Given the description of an element on the screen output the (x, y) to click on. 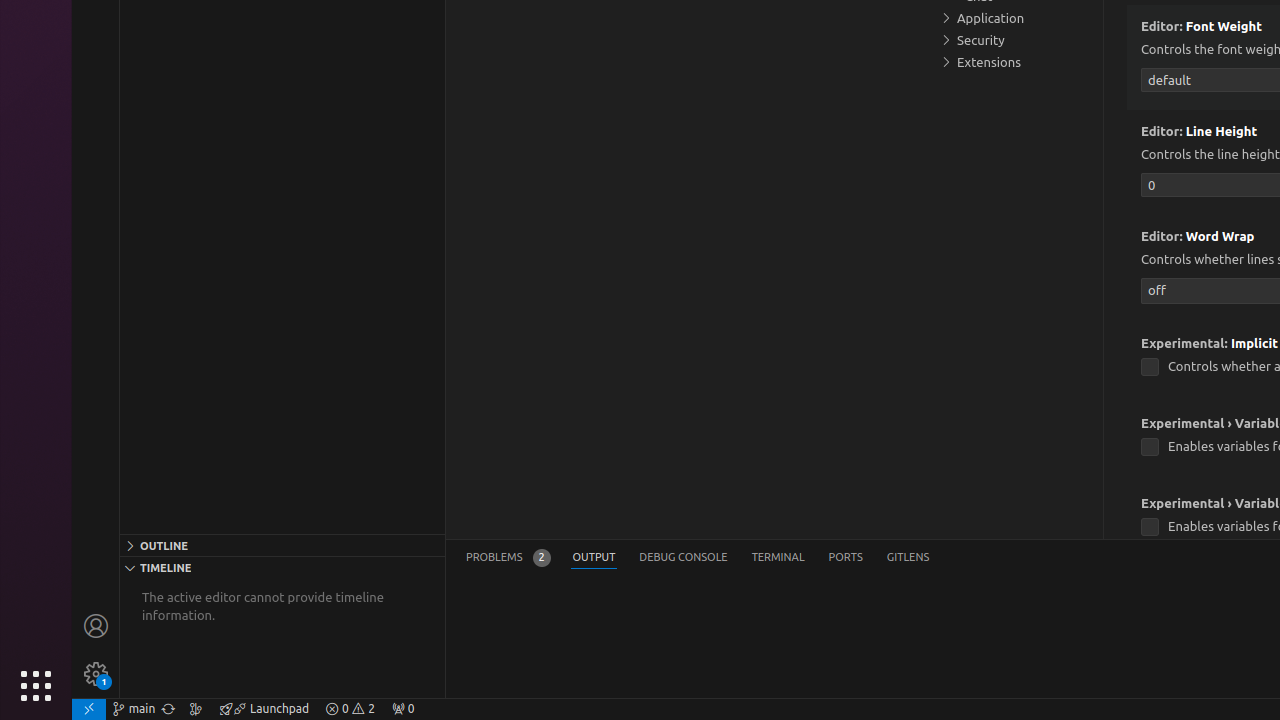
Ports Element type: page-tab (845, 557)
Extensions, group Element type: tree-item (1015, 62)
Active View Switcher Element type: page-tab-list (698, 557)
No Ports Forwarded Element type: push-button (403, 709)
